Given the description of an element on the screen output the (x, y) to click on. 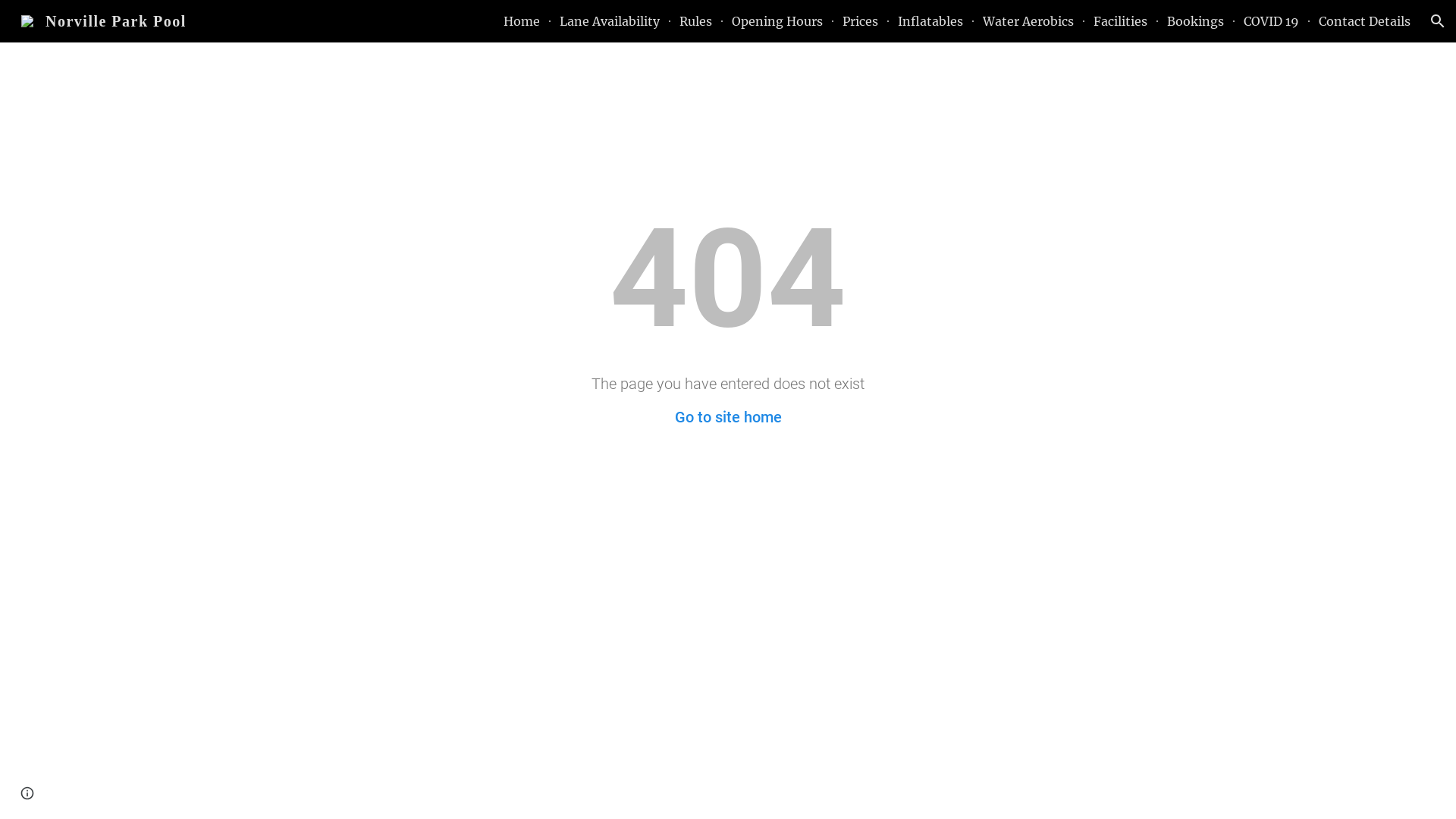
Facilities Element type: text (1120, 20)
Water Aerobics Element type: text (1027, 20)
Contact Details Element type: text (1364, 20)
Inflatables Element type: text (930, 20)
Lane Availability Element type: text (609, 20)
Bookings Element type: text (1195, 20)
Norville Park Pool Element type: text (103, 19)
COVID 19 Element type: text (1271, 20)
Home Element type: text (521, 20)
Rules Element type: text (695, 20)
Go to site home Element type: text (727, 416)
Opening Hours Element type: text (776, 20)
Prices Element type: text (860, 20)
